Given the description of an element on the screen output the (x, y) to click on. 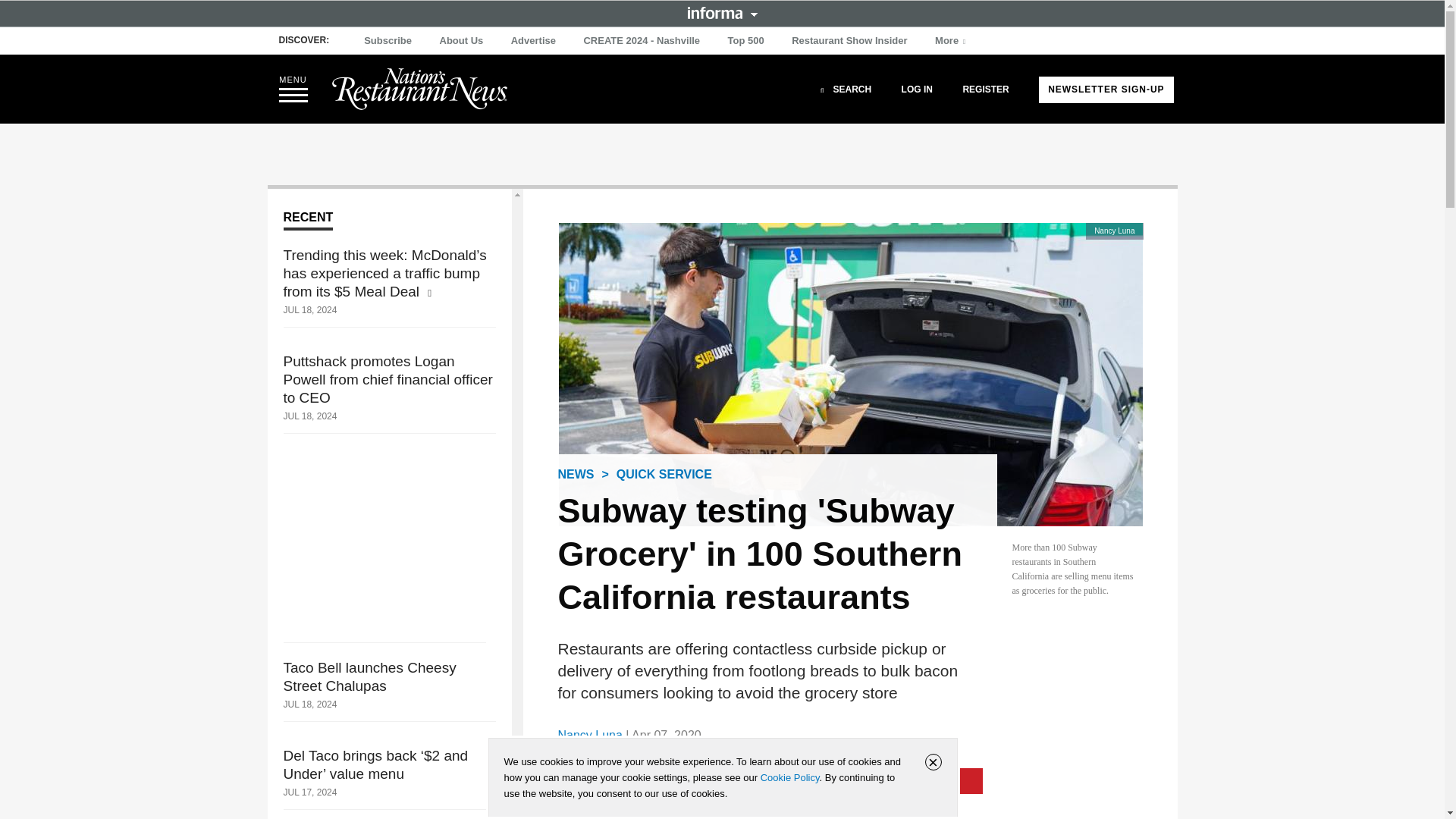
CREATE 2024 - Nashville (641, 41)
INFORMA (722, 12)
About Us (461, 41)
Advertise (533, 41)
Restaurant Show Insider (849, 41)
More (951, 41)
Cookie Policy (789, 777)
Top 500 (746, 41)
Subscribe (387, 41)
